Given the description of an element on the screen output the (x, y) to click on. 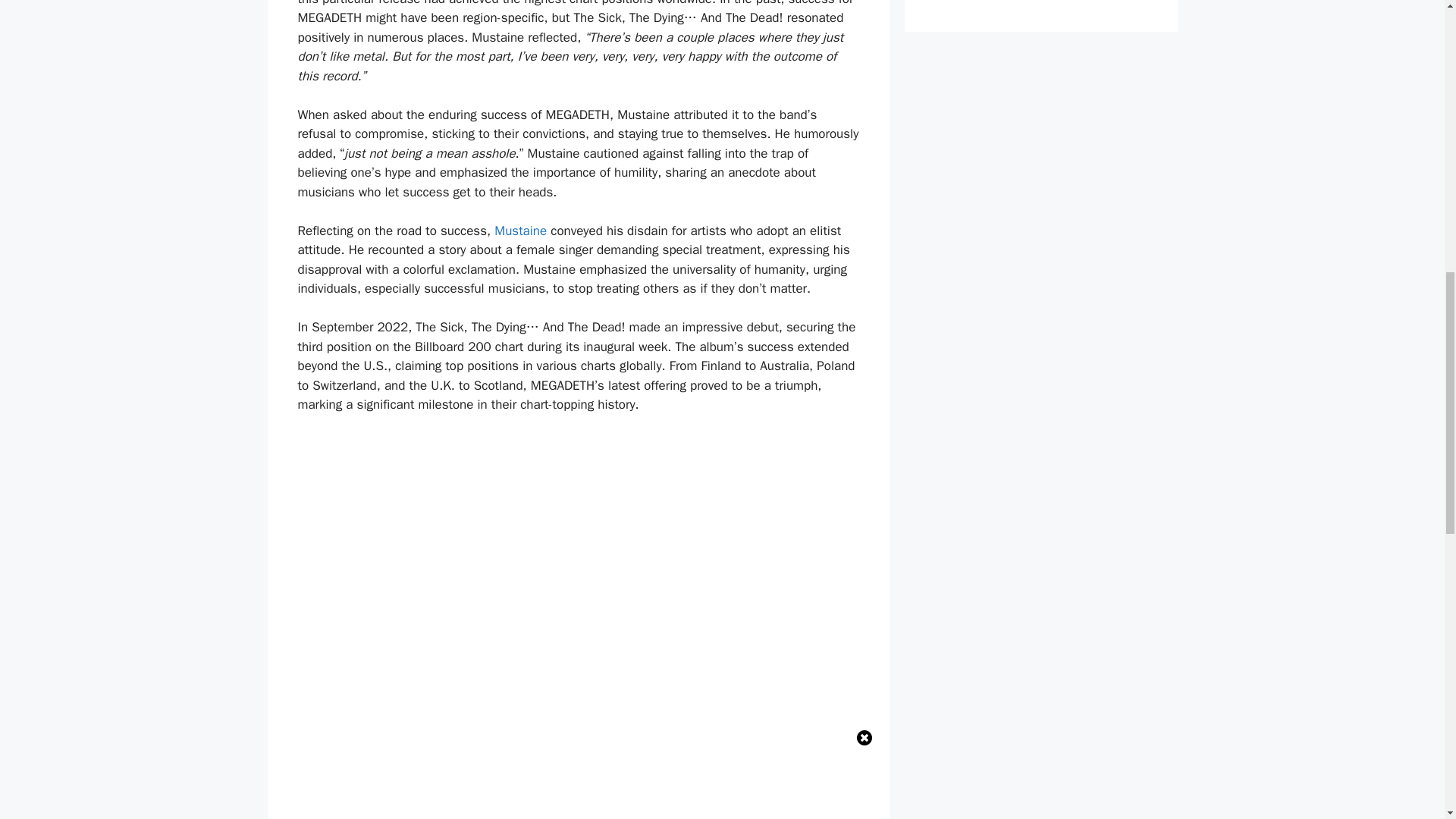
Mustaine (521, 230)
